Given the description of an element on the screen output the (x, y) to click on. 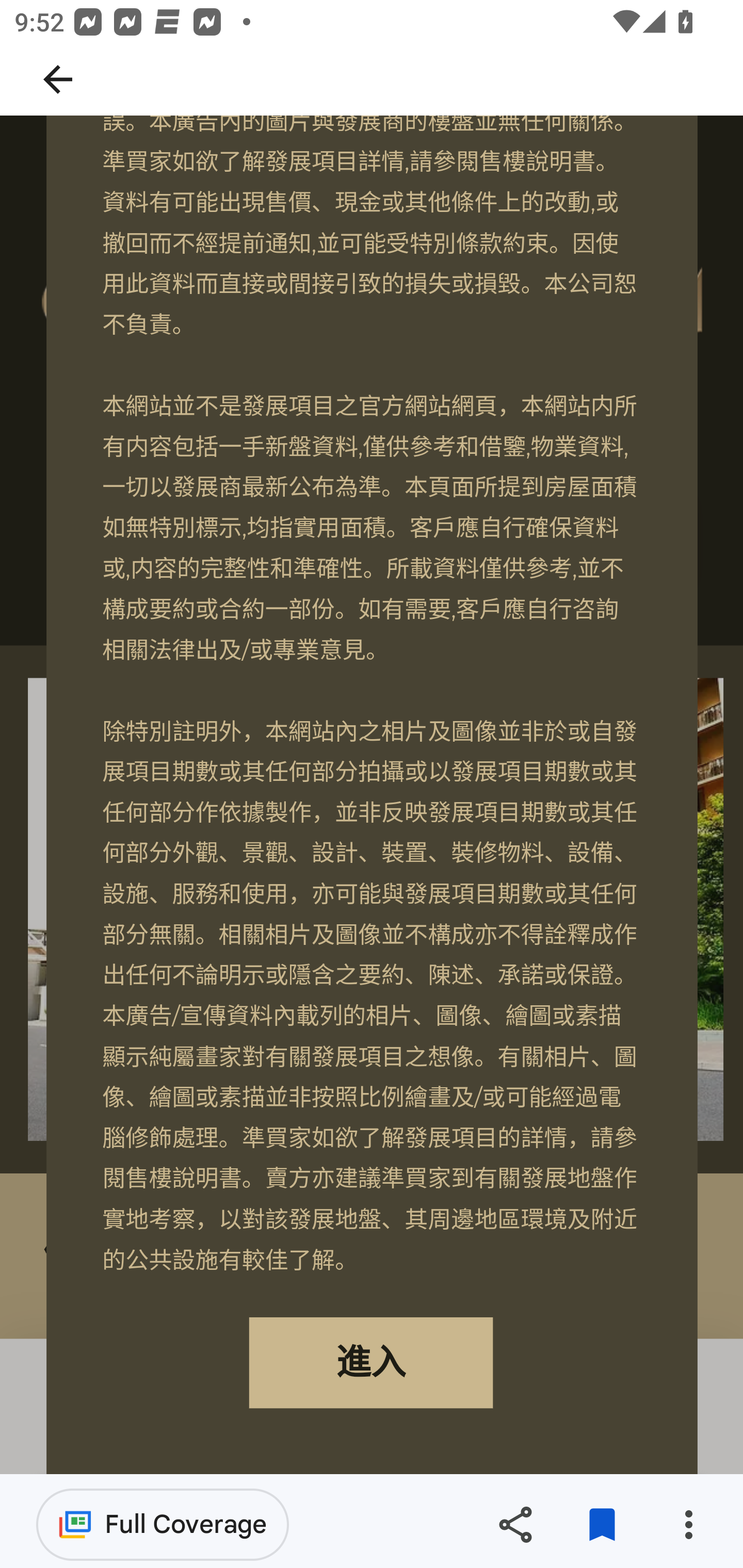
Navigate up (57, 79)
進入 (369, 1363)
Share (514, 1524)
Remove from saved stories (601, 1524)
More options (688, 1524)
Full Coverage (162, 1524)
